Given the description of an element on the screen output the (x, y) to click on. 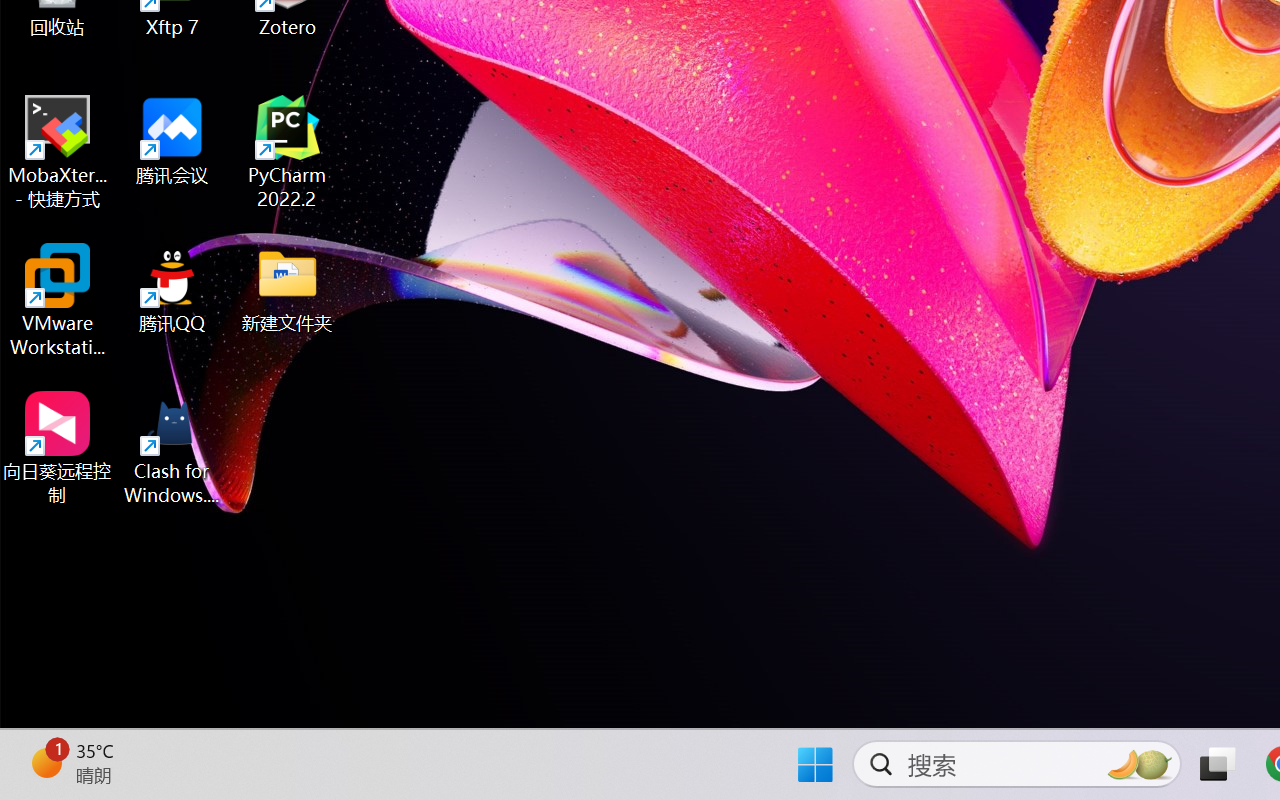
PyCharm 2022.2 (287, 152)
VMware Workstation Pro (57, 300)
